Given the description of an element on the screen output the (x, y) to click on. 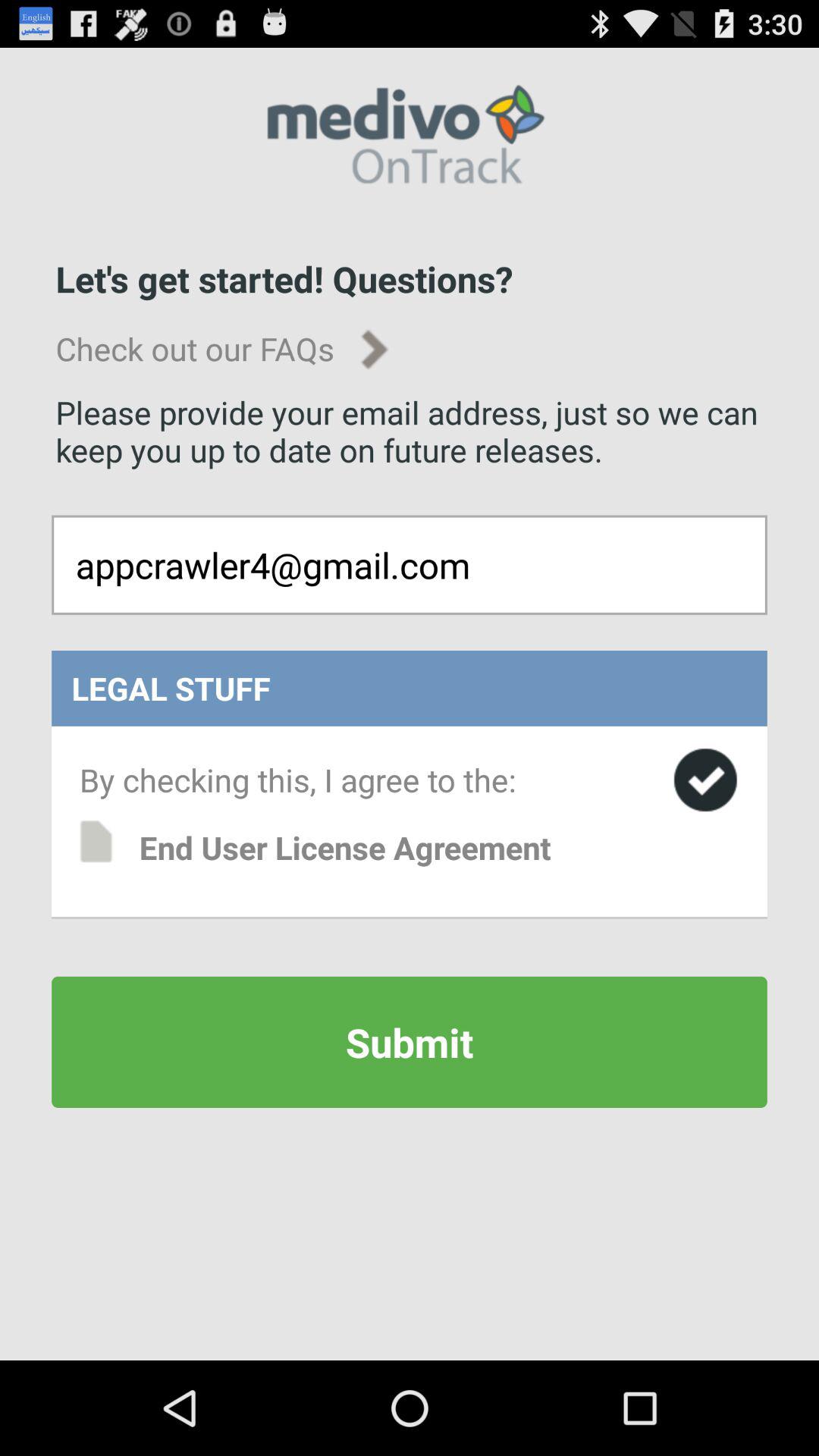
agree toggle for user agreement (705, 779)
